Given the description of an element on the screen output the (x, y) to click on. 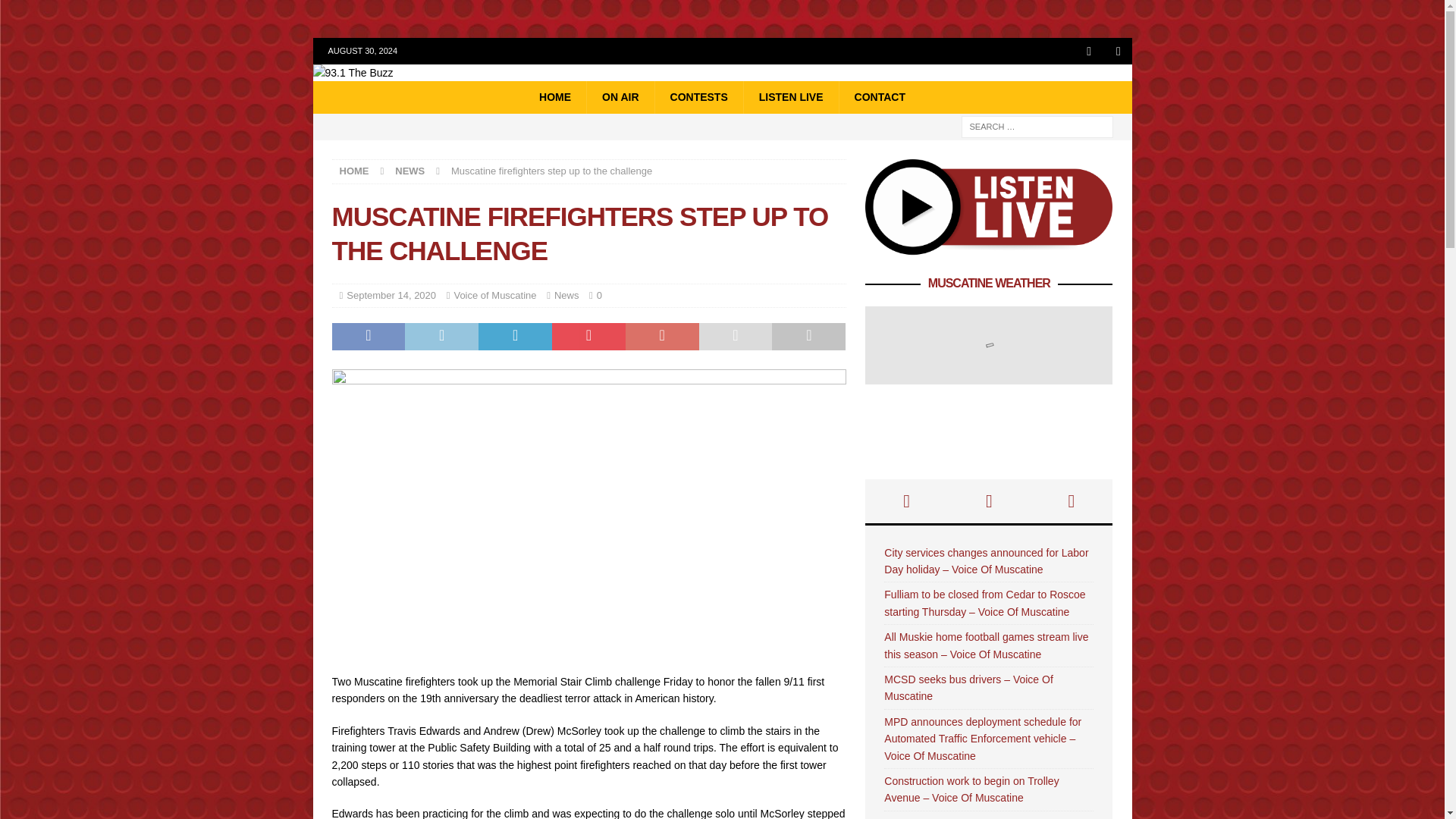
CONTACT (879, 97)
Search (56, 11)
HOME (354, 170)
News (566, 295)
LISTEN LIVE (790, 97)
ON AIR (619, 97)
93.1 The Buzz (353, 72)
Voice of Muscatine (493, 295)
September 14, 2020 (390, 295)
CONTESTS (697, 97)
